Given the description of an element on the screen output the (x, y) to click on. 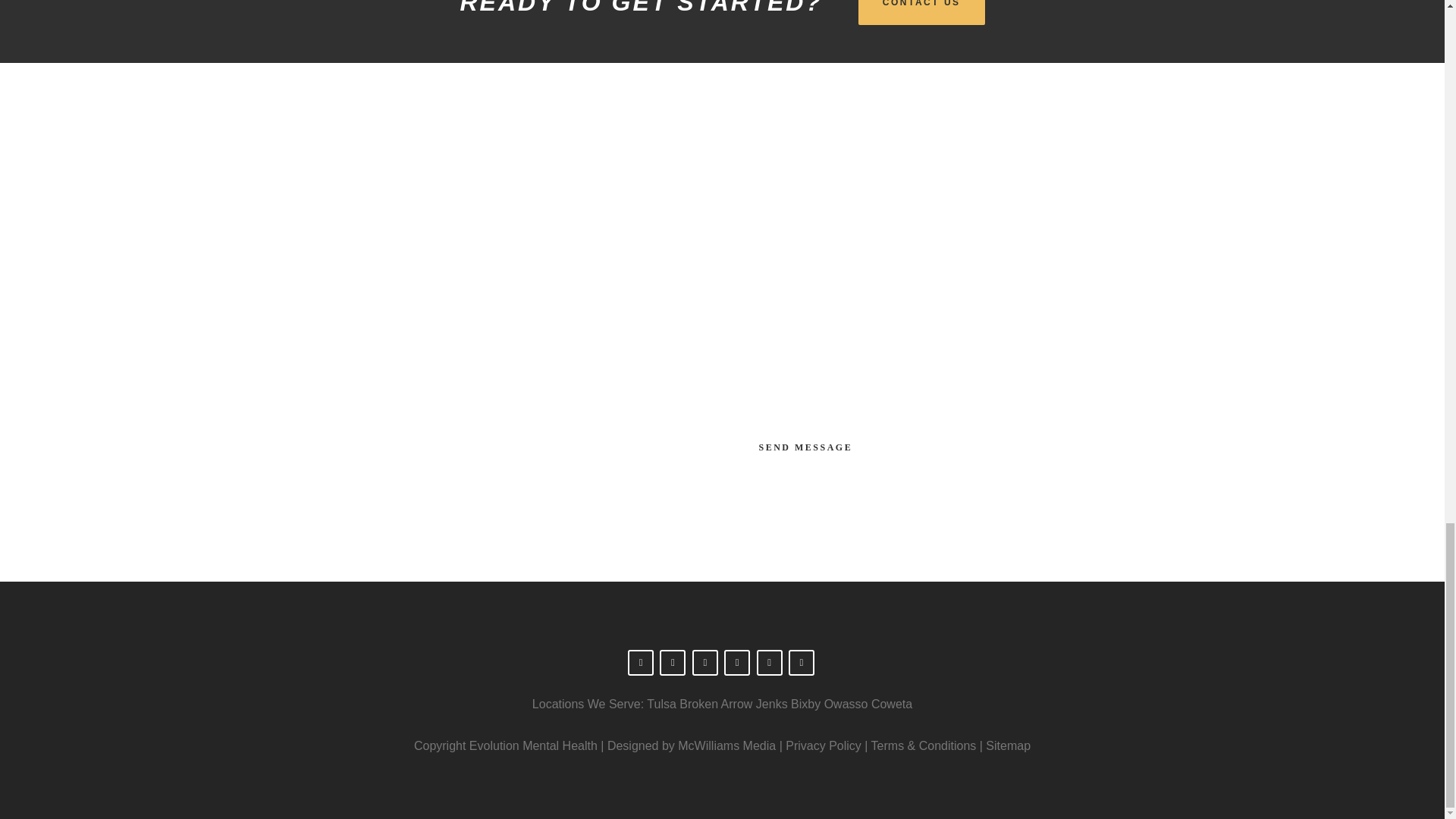
SEND MESSAGE (805, 447)
Broken Arrow (715, 703)
Tulsa (661, 703)
CONTACT US (922, 12)
8211 E Regal PL STE 100, Tulsa, OK 74133 (516, 241)
Jenks (771, 703)
SEND MESSAGE (805, 447)
